Given the description of an element on the screen output the (x, y) to click on. 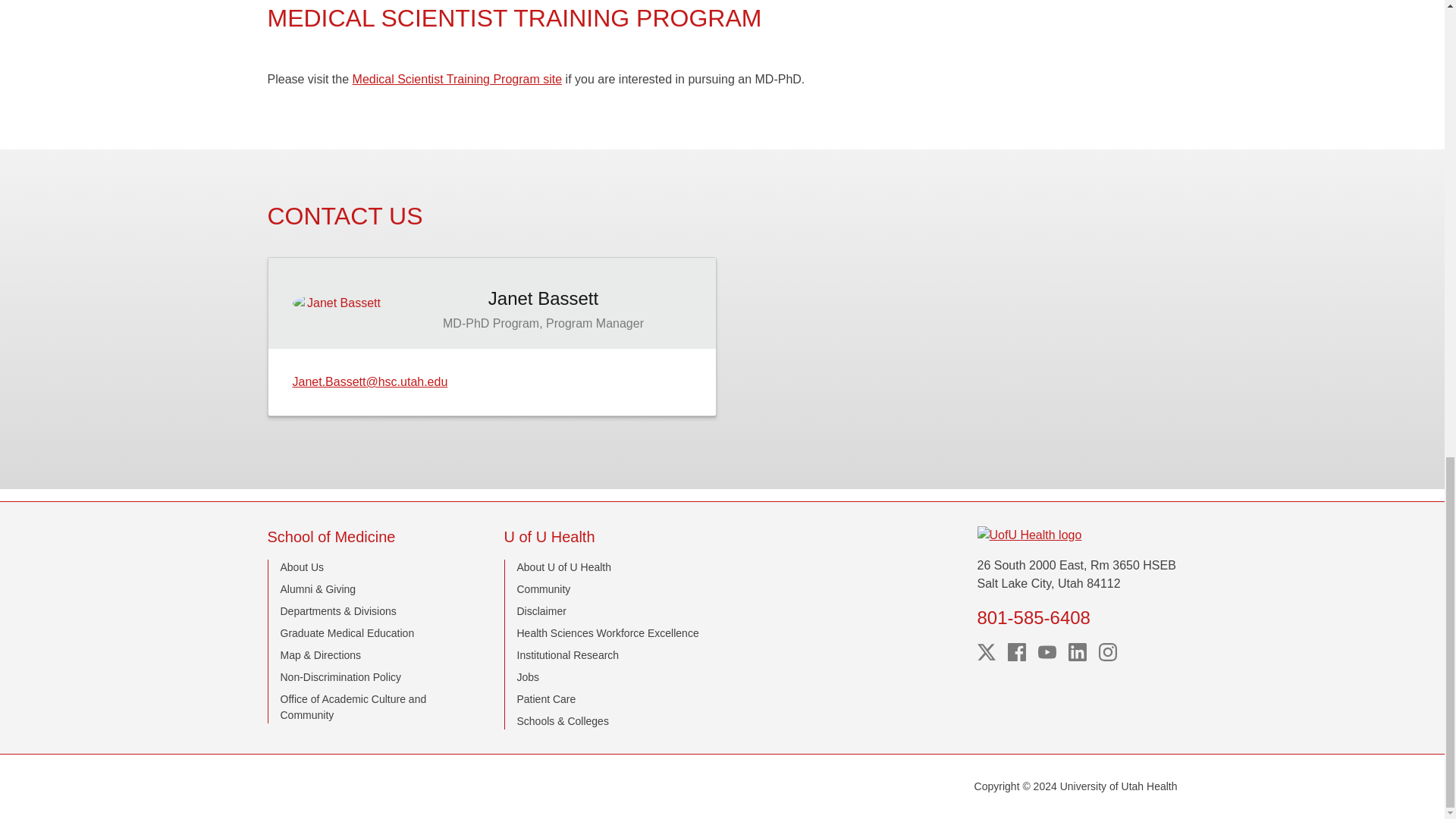
Health Sciences Workforce Excellence (607, 633)
About Us (302, 567)
Jobs (528, 676)
Janet Bassett (542, 298)
Patient Care (546, 698)
Non-Discrimination Policy (341, 676)
Community (543, 589)
Medical Scientist Training Program site (457, 78)
University of Utah Healthcare (1076, 535)
About U of U Health (563, 567)
